Given the description of an element on the screen output the (x, y) to click on. 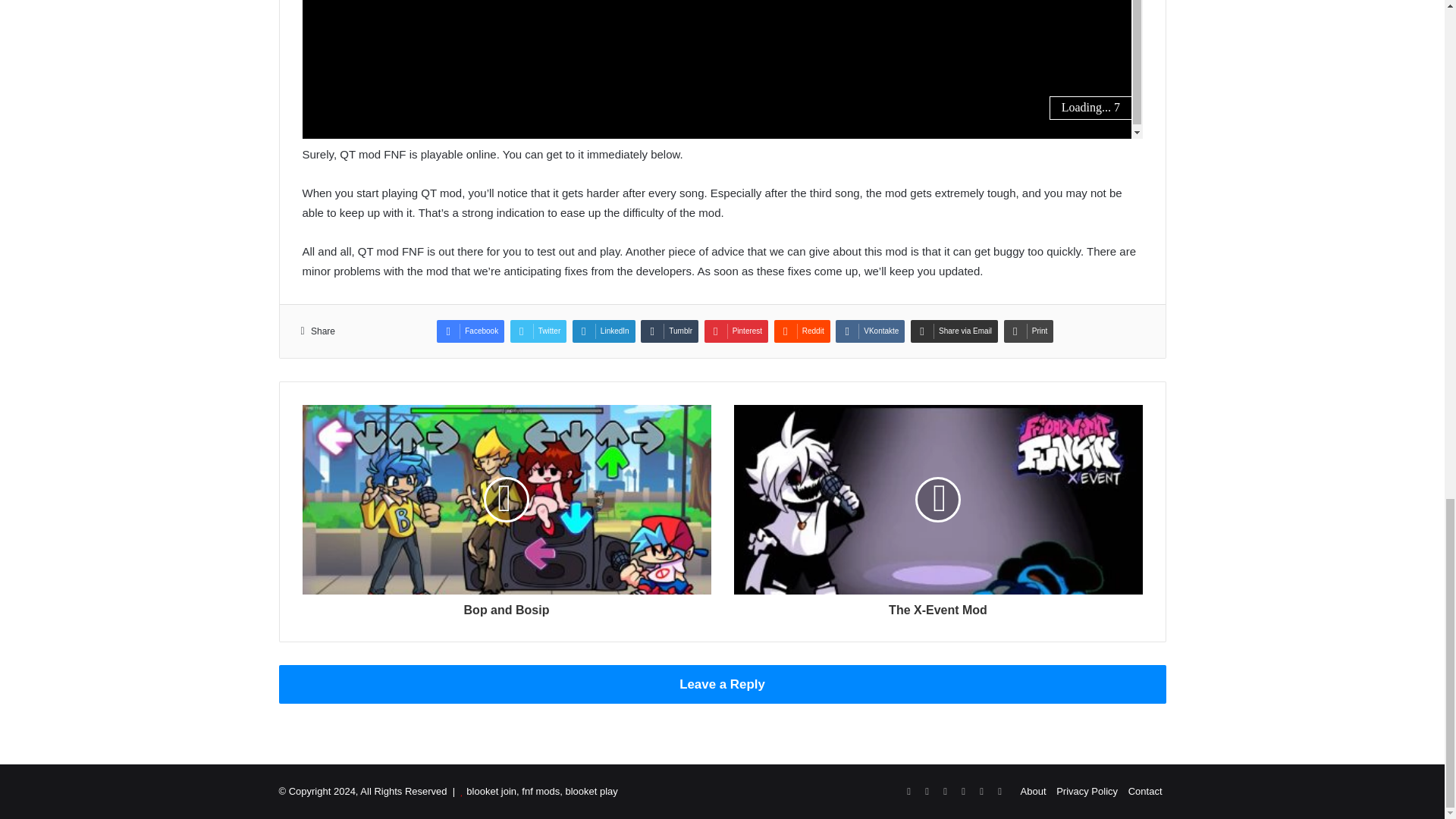
Reddit (801, 331)
LinkedIn (603, 331)
Tumblr (669, 331)
Pinterest (736, 331)
Facebook (469, 331)
VKontakte (869, 331)
Twitter (538, 331)
